Given the description of an element on the screen output the (x, y) to click on. 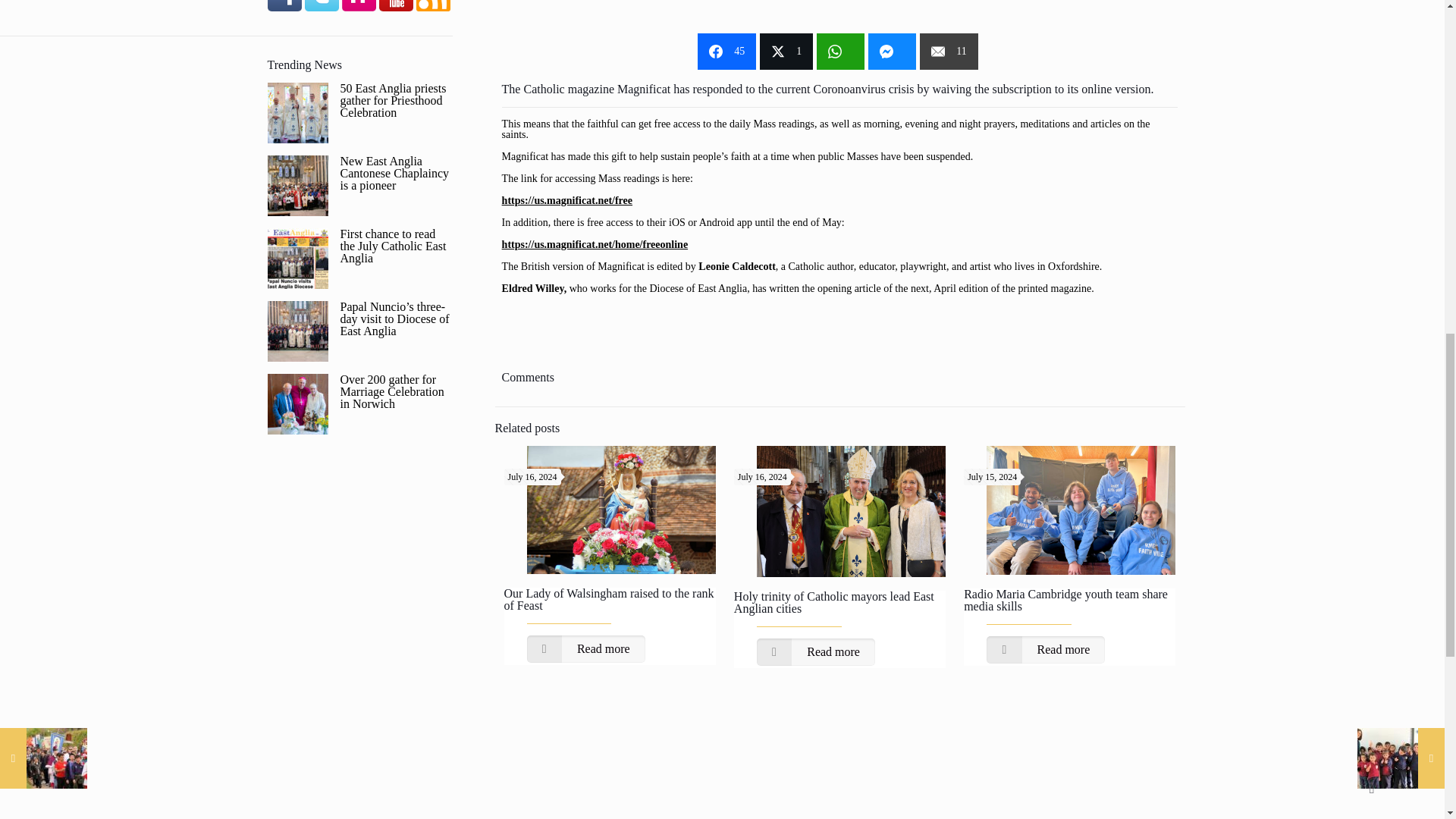
Share on Email (948, 51)
Share on Facebook Messenger (891, 51)
Share on Twitter (786, 51)
Share on Facebook (726, 51)
Share on WhatsApp (840, 51)
